Given the description of an element on the screen output the (x, y) to click on. 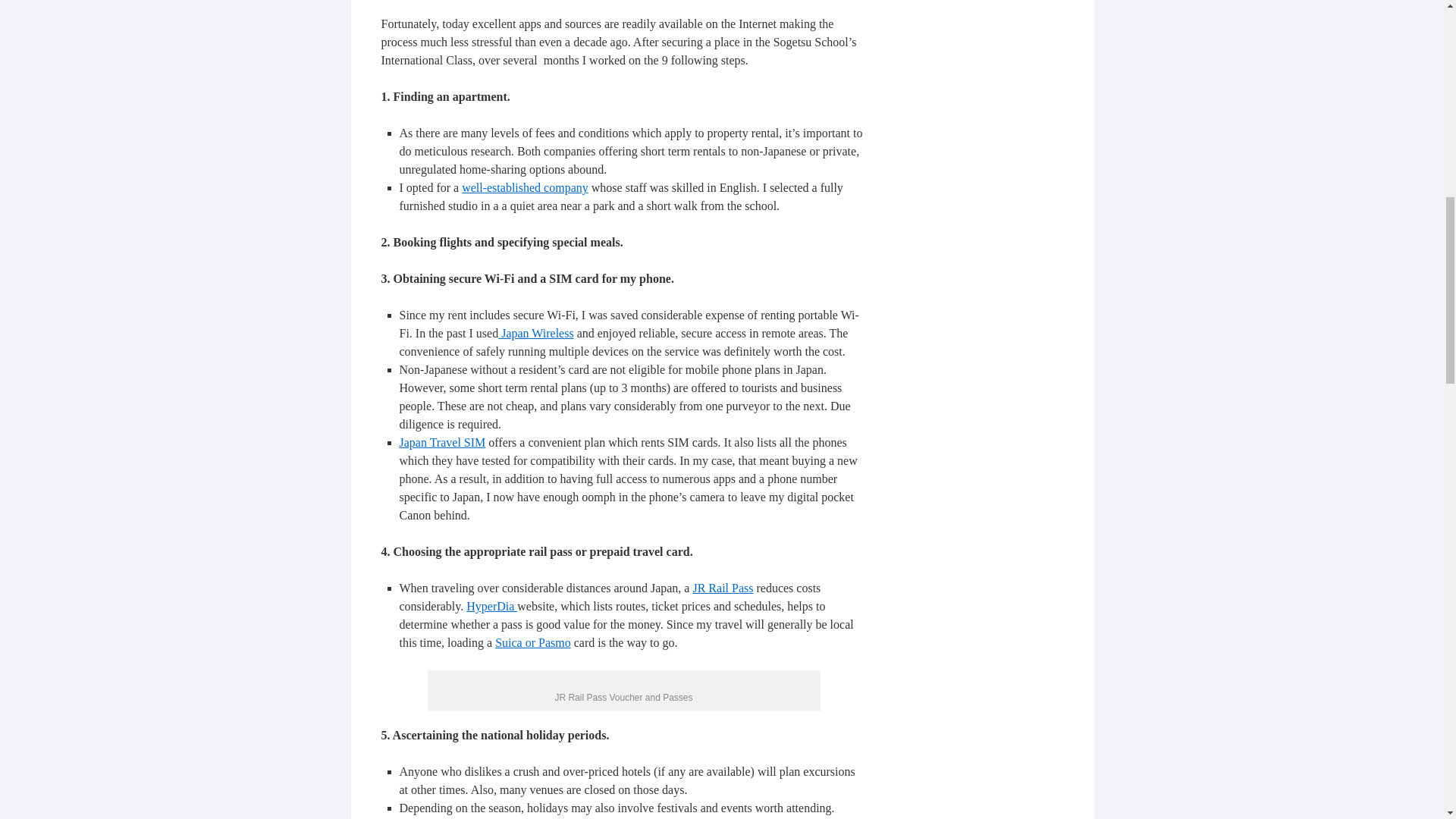
well-established company (524, 187)
Japan Travel SIM (441, 441)
JR Rail Pass (722, 587)
HyperDia (490, 605)
Suica or Pasmo (532, 642)
Japan Wireless (535, 332)
